Given the description of an element on the screen output the (x, y) to click on. 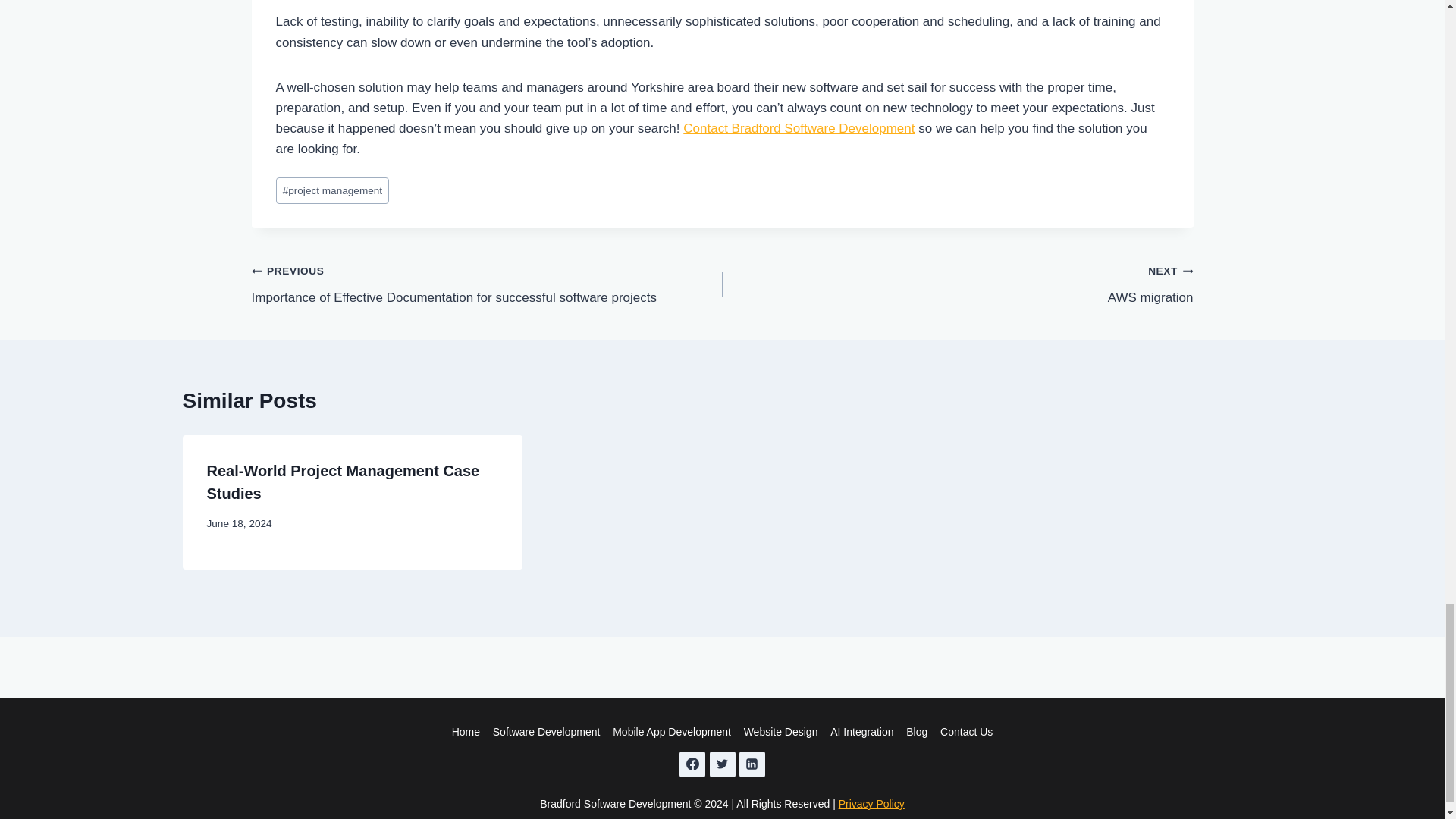
Software Development (545, 731)
Blog (916, 731)
Home (465, 731)
AI Integration (861, 731)
Contact Bradford Software Development (798, 128)
Real-World Project Management Case Studies (342, 482)
Privacy Policy (871, 803)
Website Design (780, 731)
project management (957, 283)
Contact Us (333, 190)
Mobile App Development (966, 731)
